Given the description of an element on the screen output the (x, y) to click on. 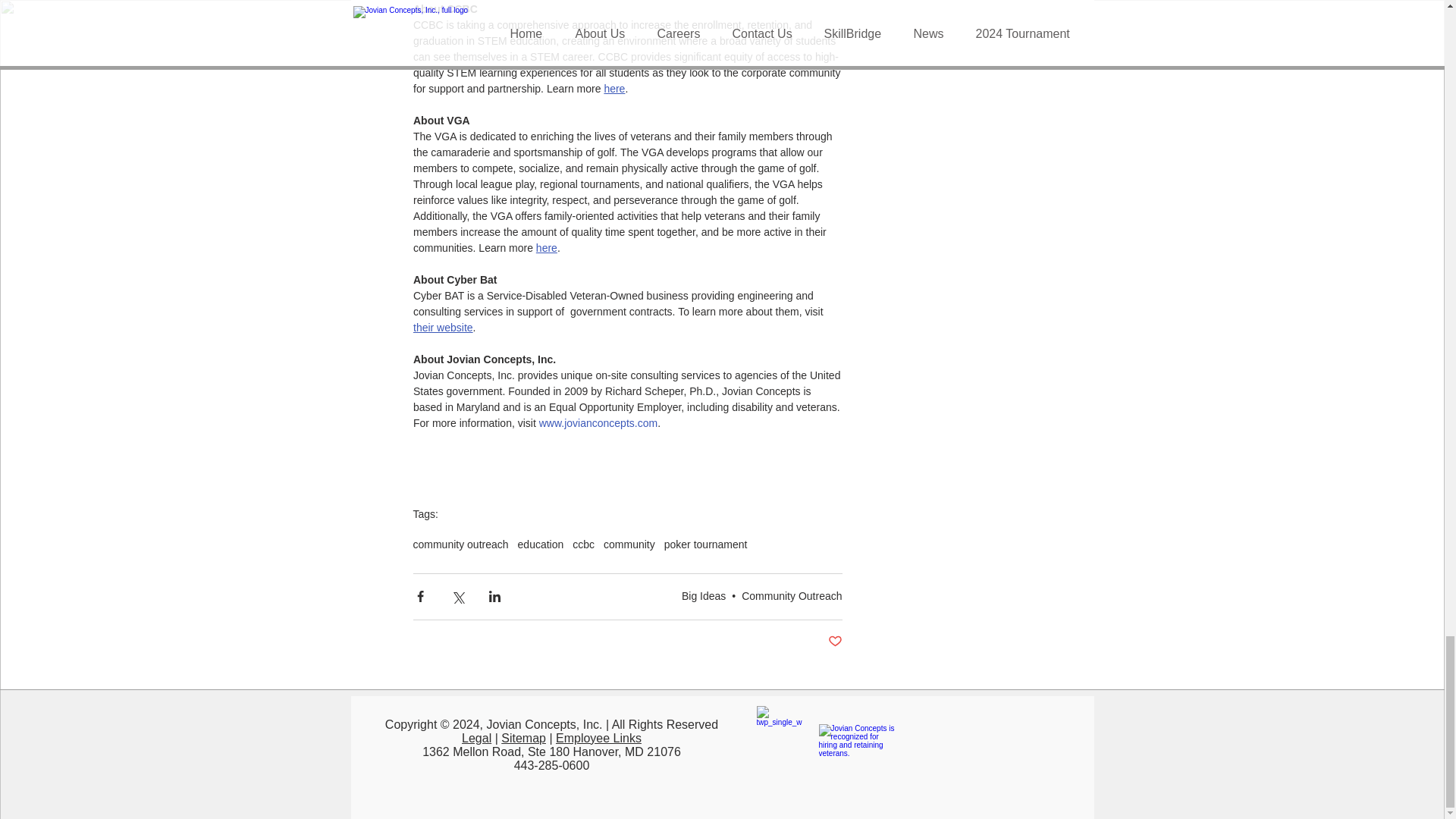
Post not marked as liked (835, 641)
education (541, 544)
Big Ideas (703, 595)
here (614, 88)
community outreach (460, 544)
Sitemap (523, 738)
poker tournament (705, 544)
Employee Links (599, 738)
here (545, 247)
community (629, 544)
Legal (476, 738)
Community Outreach (791, 595)
ccbc (583, 544)
www.jovianconcepts.com (597, 422)
their website (441, 327)
